Given the description of an element on the screen output the (x, y) to click on. 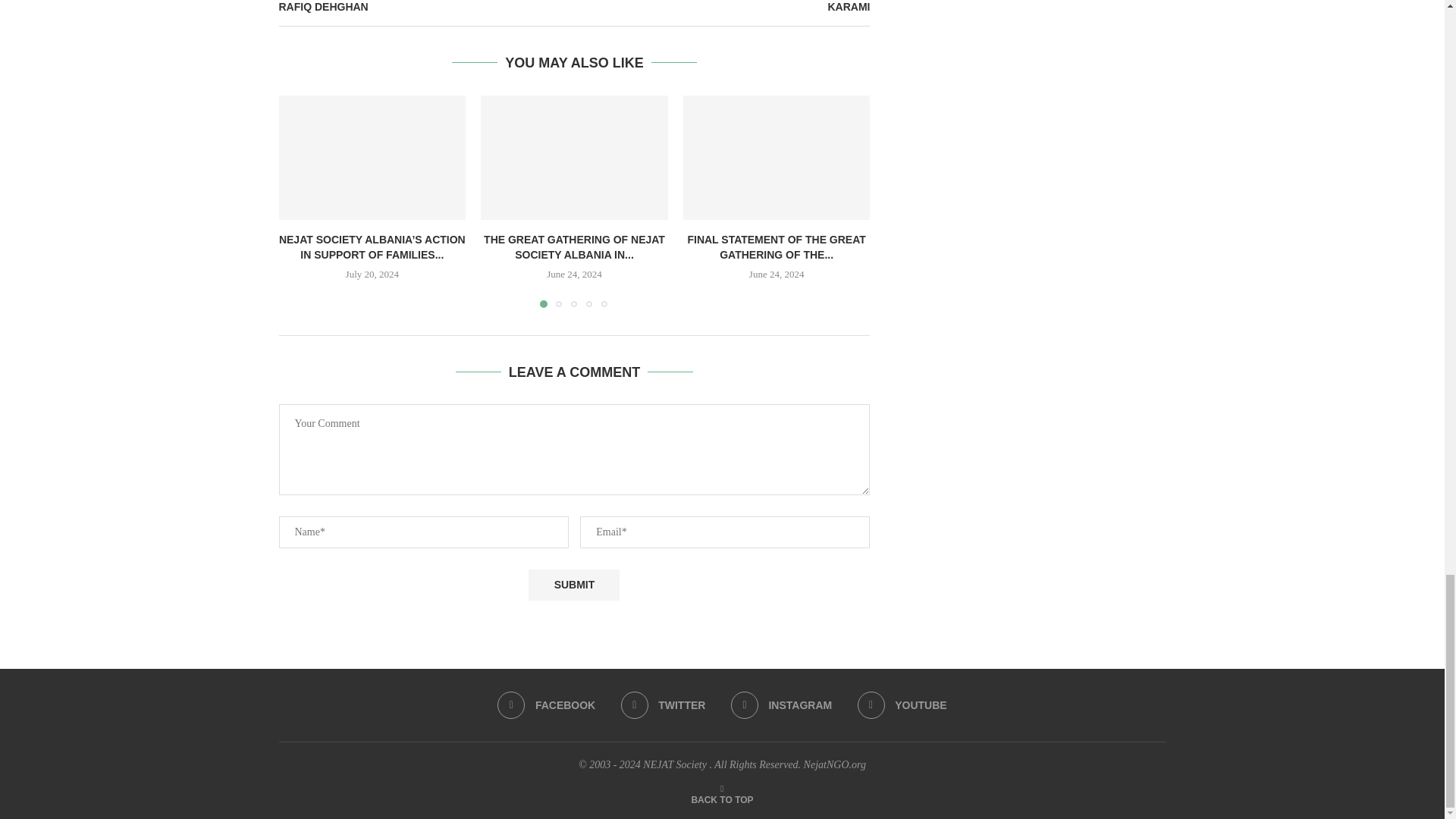
Submit (574, 584)
The great gathering of Nejat Society Albania in Tirana (574, 157)
